Given the description of an element on the screen output the (x, y) to click on. 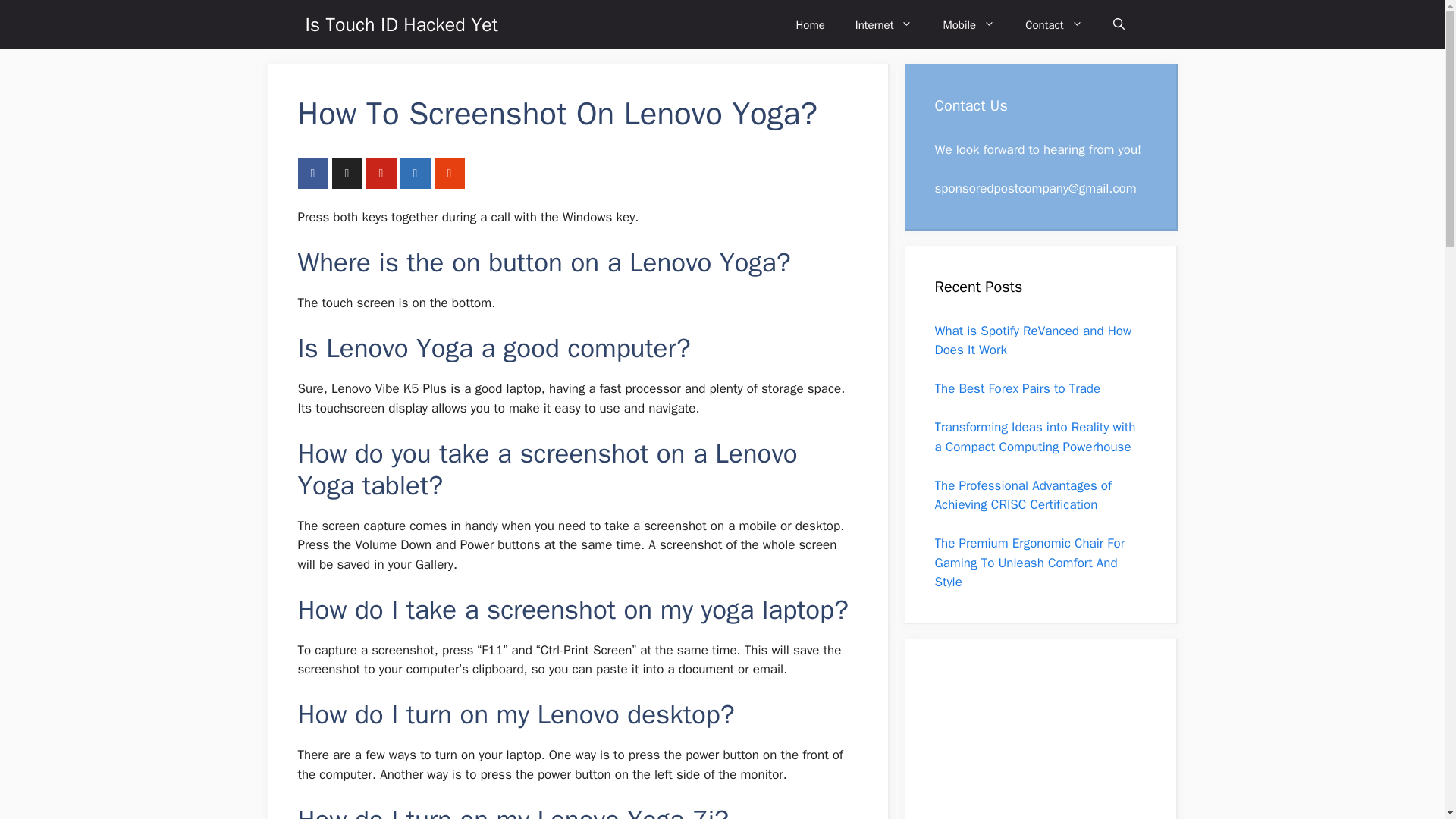
Contact (1053, 23)
Mobile (968, 23)
Is Touch ID Hacked Yet (400, 24)
Home (810, 23)
Internet (884, 23)
